Given the description of an element on the screen output the (x, y) to click on. 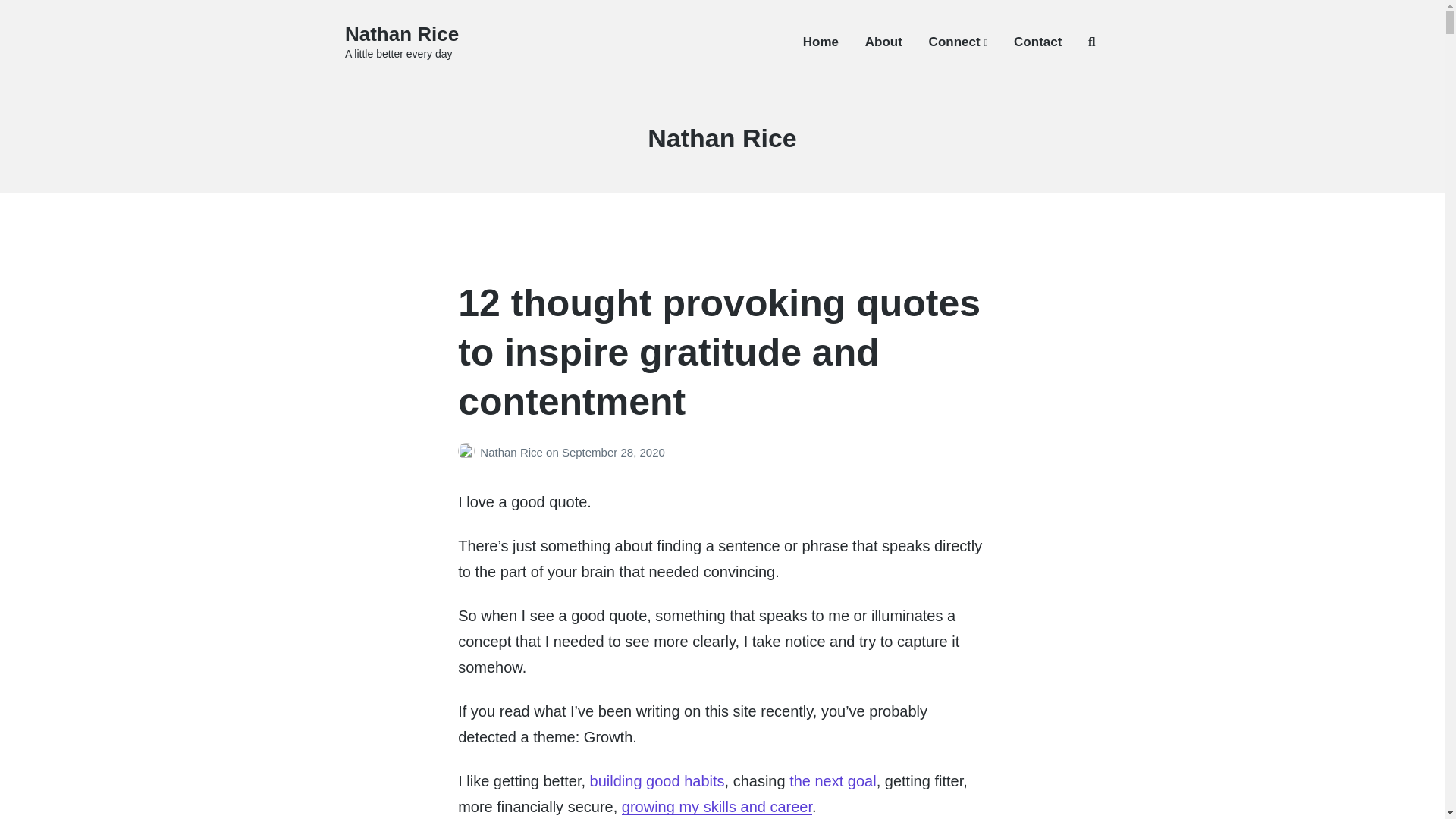
growing my skills and career (716, 806)
Home (820, 42)
Posts by Nathan Rice (469, 451)
the next goal (832, 781)
Contact (1037, 42)
Nathan Rice (513, 451)
Nathan Rice (401, 33)
building good habits (657, 781)
Connect (958, 42)
About (883, 42)
